Given the description of an element on the screen output the (x, y) to click on. 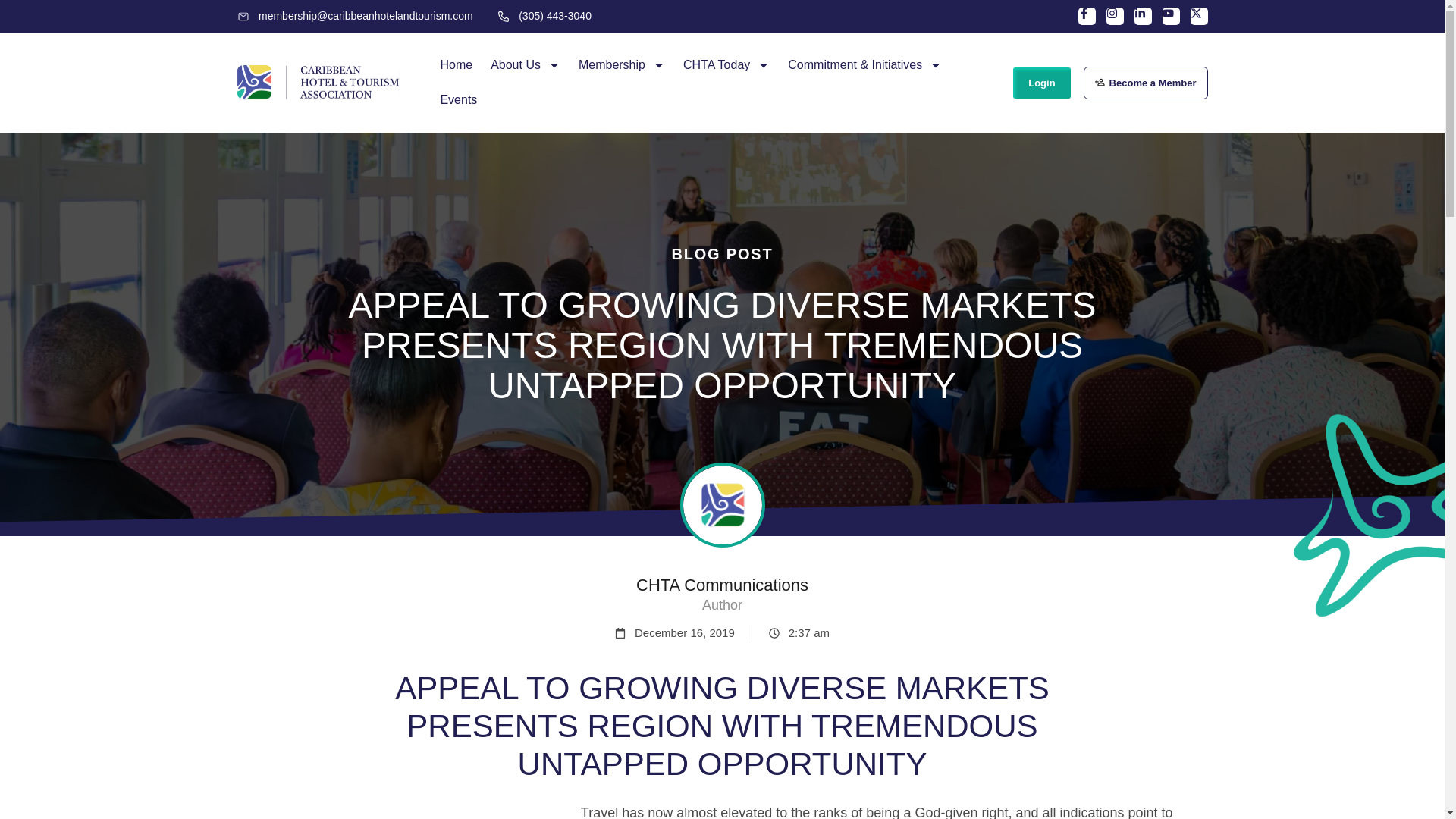
Membership (621, 64)
Events (458, 99)
CHTA Today (726, 64)
About Us (525, 64)
Home (455, 64)
